Given the description of an element on the screen output the (x, y) to click on. 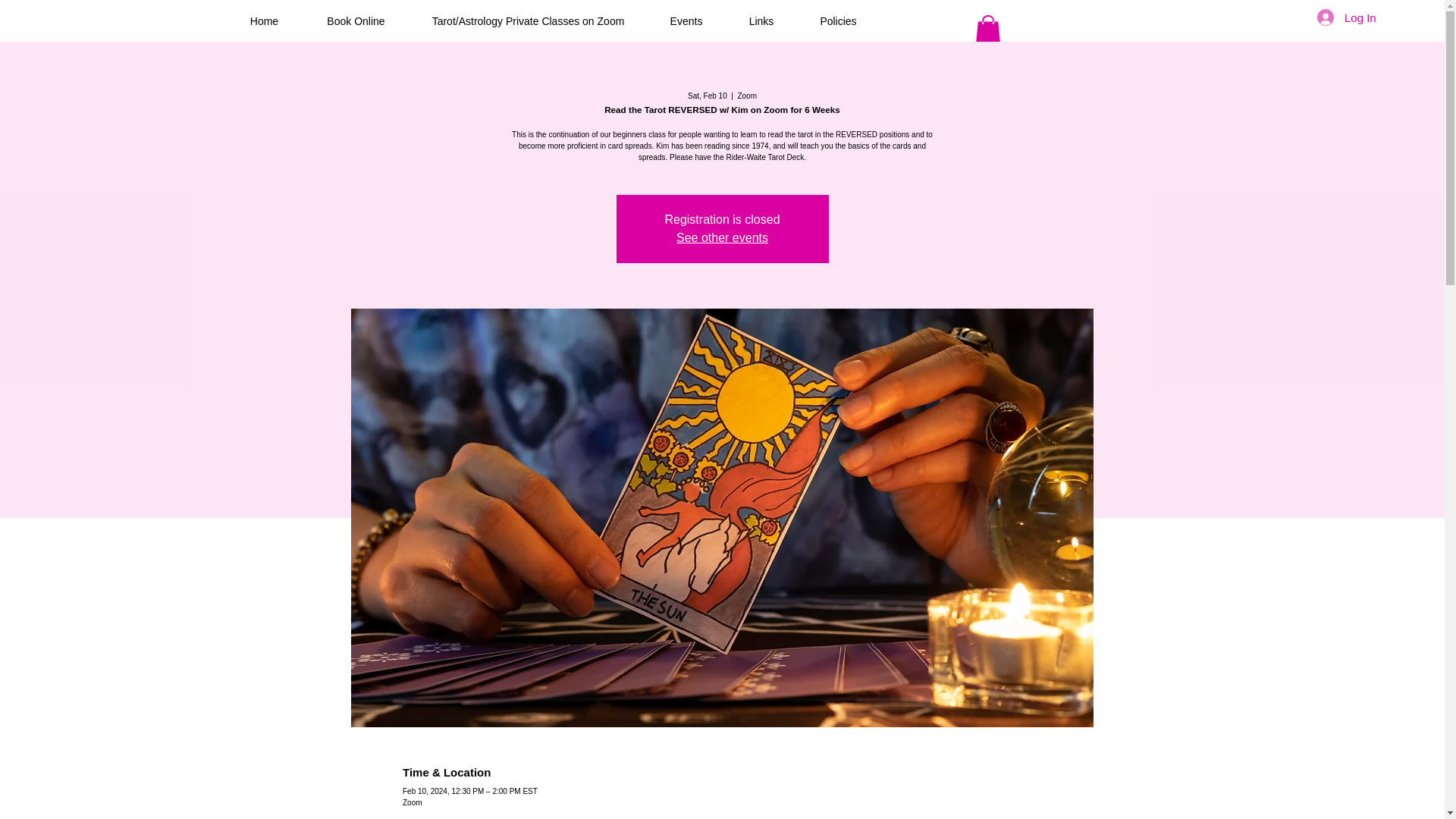
Events (685, 20)
Log In (1346, 17)
Home (263, 20)
Links (760, 20)
See other events (722, 237)
Book Online (355, 20)
Policies (837, 20)
